Given the description of an element on the screen output the (x, y) to click on. 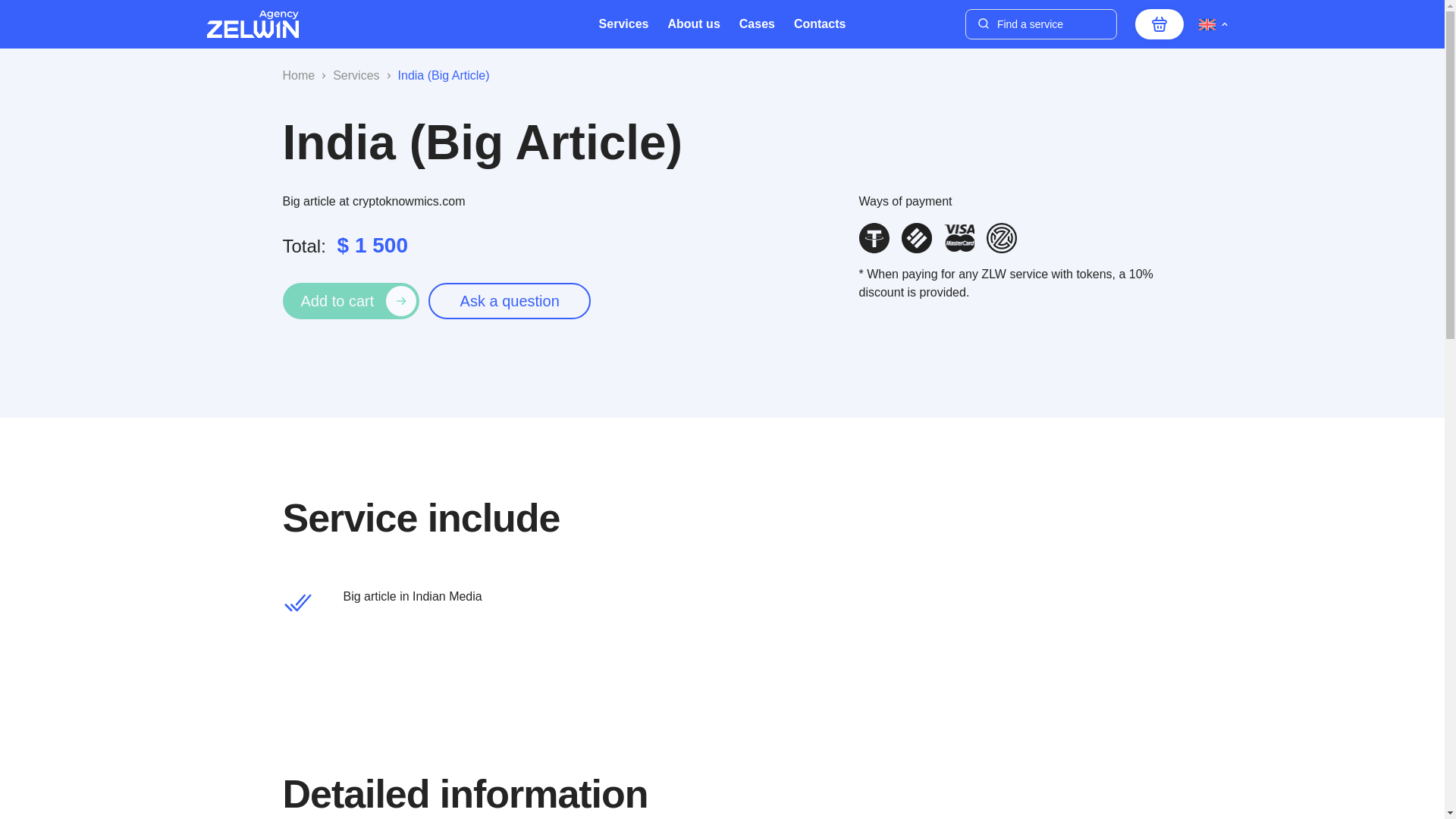
About us (692, 24)
Services (623, 24)
Contacts (819, 24)
